Given the description of an element on the screen output the (x, y) to click on. 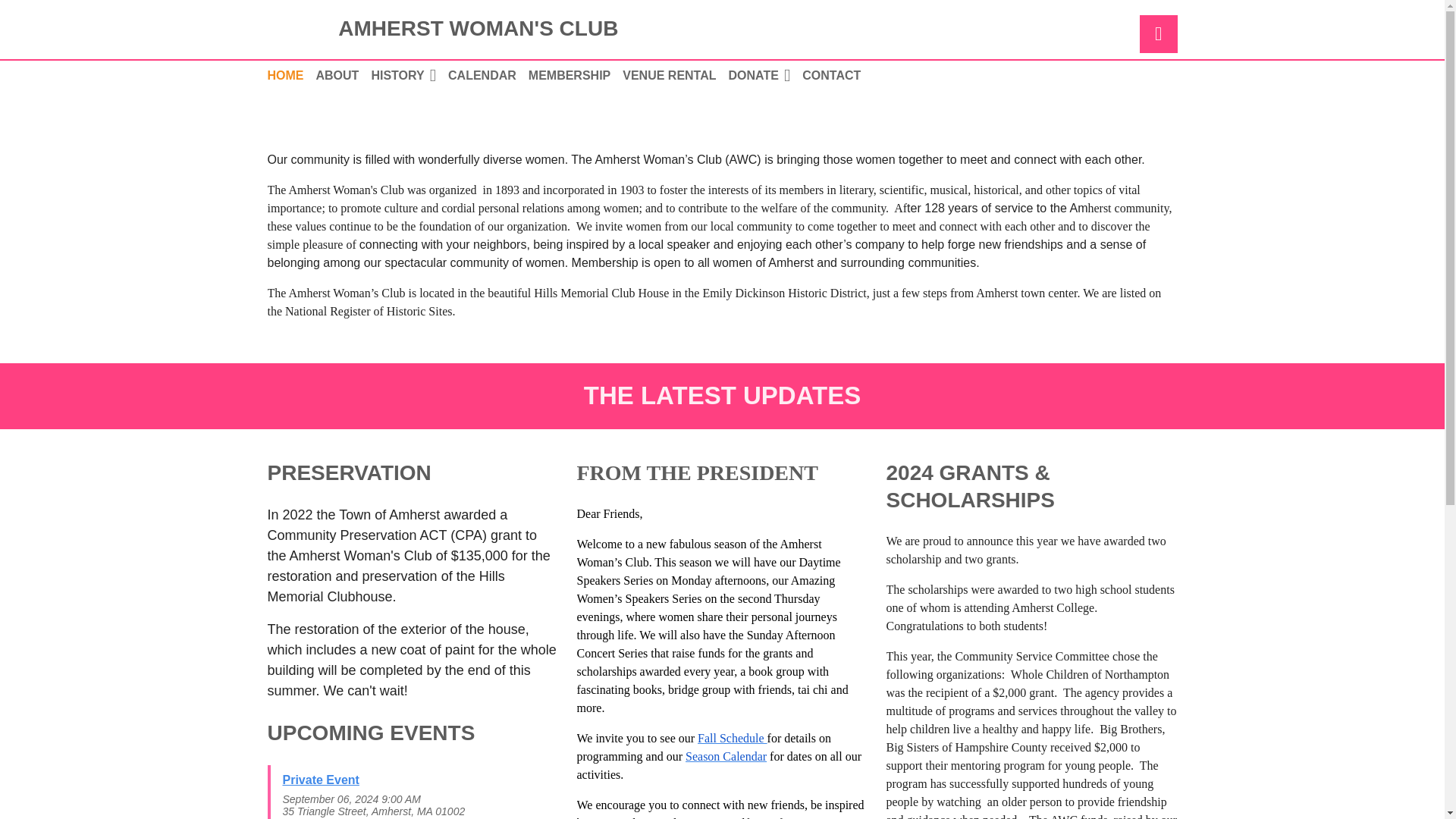
MEMBERSHIP (575, 75)
VENUE RENTAL (675, 75)
DONATE (766, 75)
ABOUT (343, 75)
CONTACT (837, 75)
Calendar (488, 75)
Fall Schedule  (732, 738)
History (409, 75)
Private Event (320, 779)
Home (290, 75)
